Given the description of an element on the screen output the (x, y) to click on. 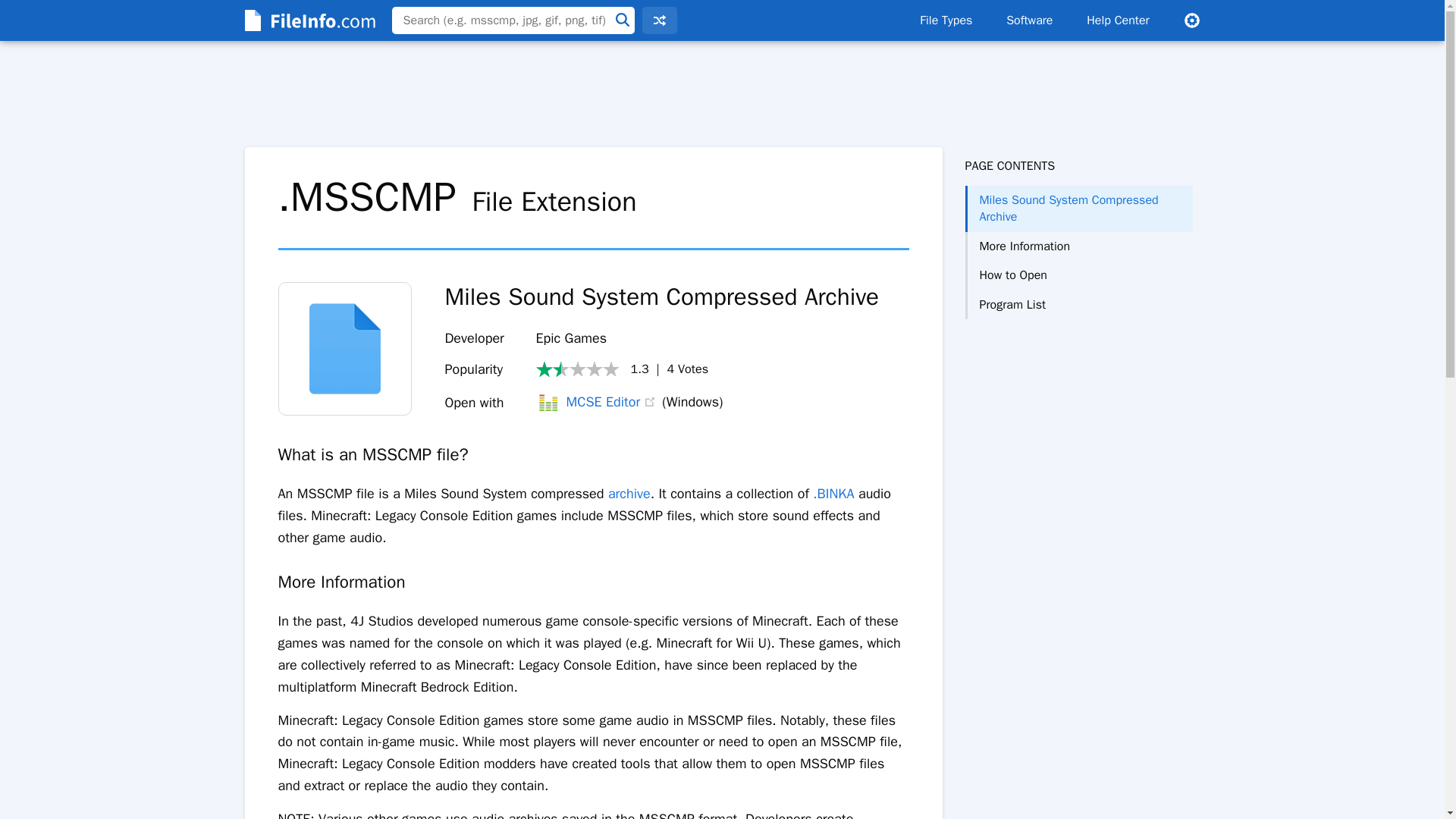
Help Center (1117, 20)
archive (629, 493)
Settings (1190, 20)
Document Icon (344, 348)
FileInfo (307, 20)
.BINKA (832, 493)
MCSE Editor (587, 401)
Random (659, 20)
How to Open (1077, 275)
Software (1029, 20)
